Given the description of an element on the screen output the (x, y) to click on. 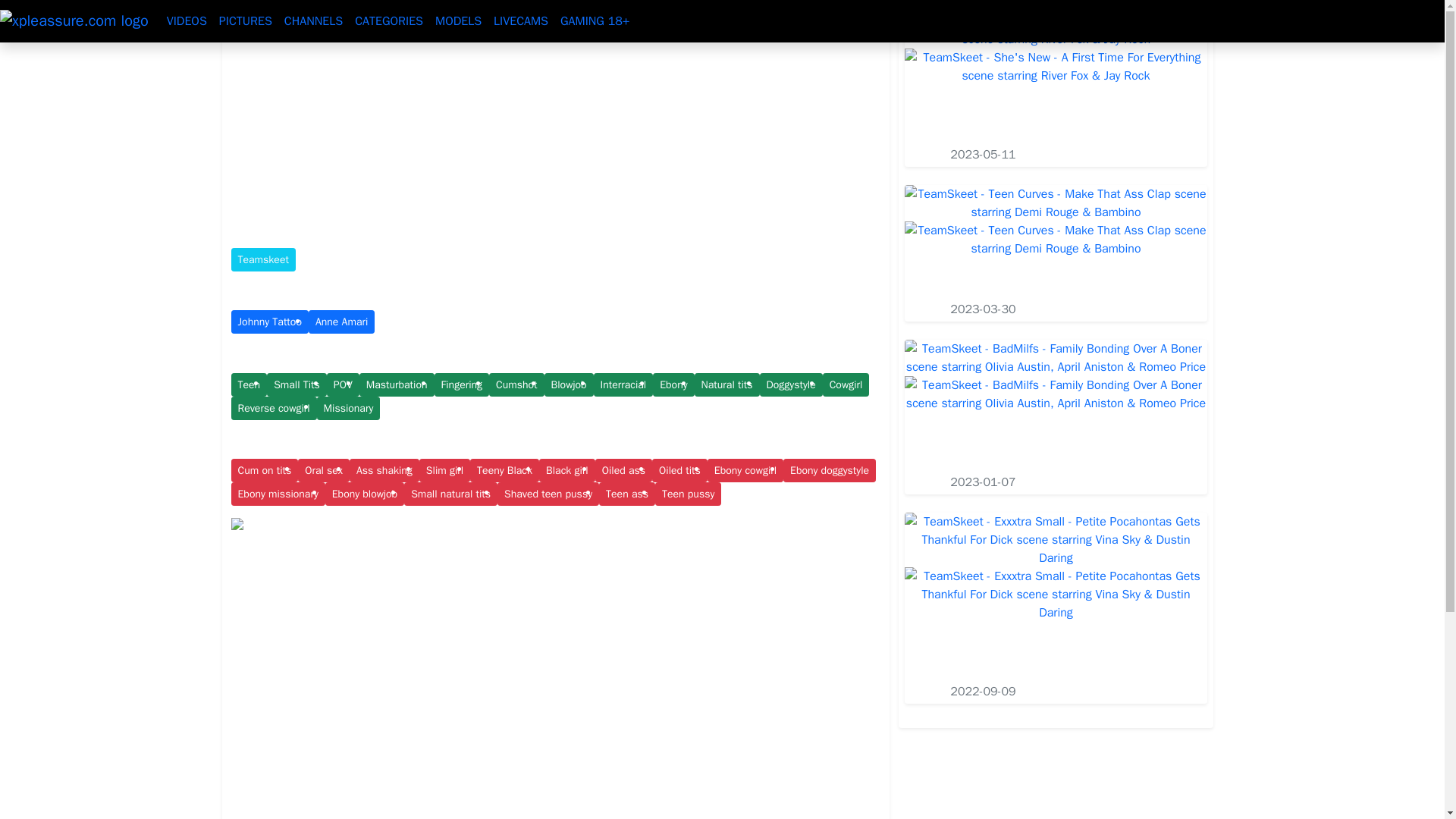
Fingering (461, 384)
Masturbation (396, 384)
Cum on tits (264, 470)
Teeny Black (504, 470)
Ass shaking (384, 470)
Ebony cowgirl (745, 470)
Oral sex (323, 470)
PICTURES (245, 20)
Blowjob (569, 384)
Reverse cowgirl (272, 408)
LIVECAMS (520, 20)
Teen (248, 384)
MODELS (458, 20)
Anne Amari (341, 321)
Johnny Tattoo (268, 321)
